Given the description of an element on the screen output the (x, y) to click on. 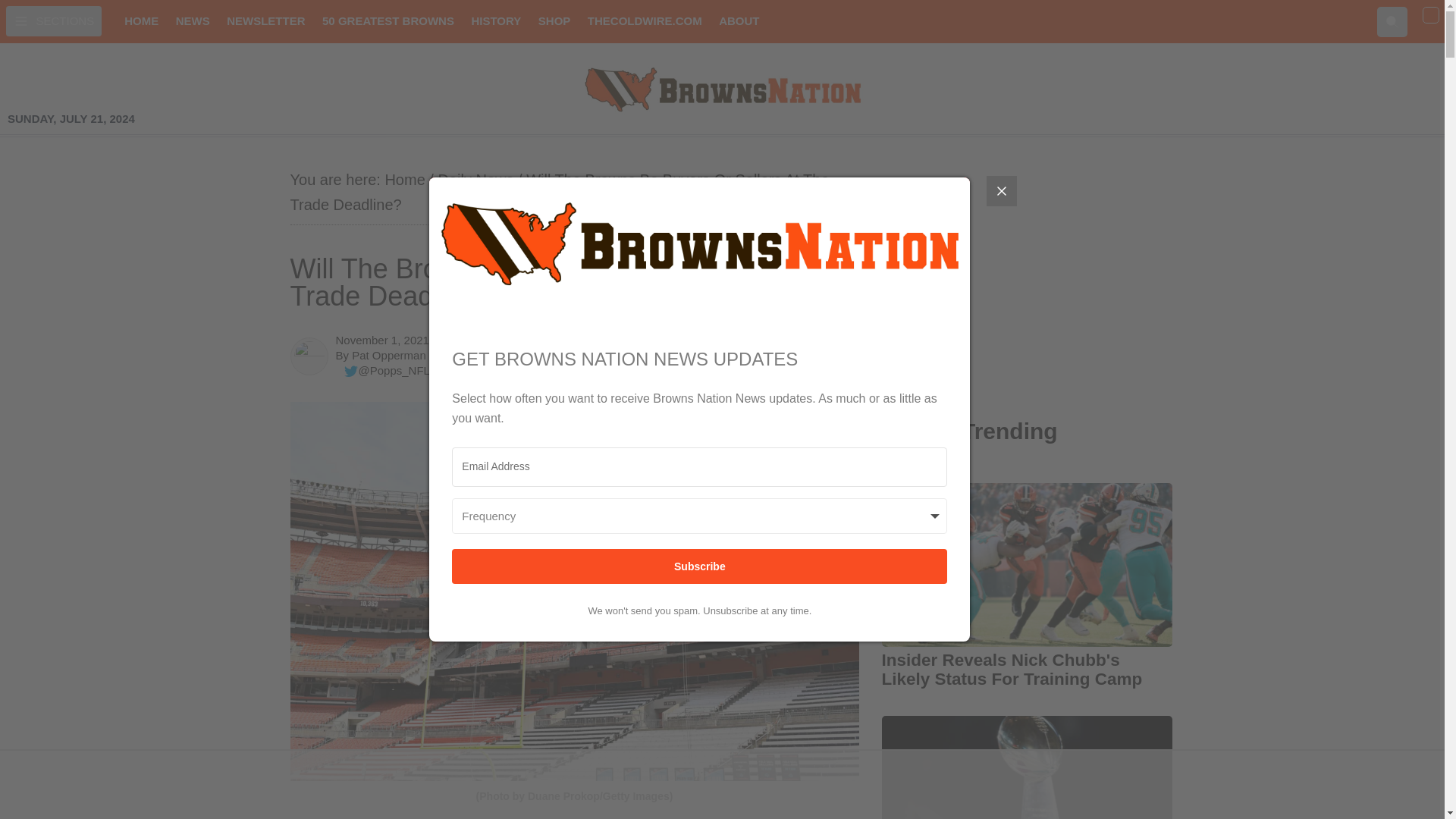
Search (1392, 20)
HOME (140, 21)
NEWS (192, 21)
BROWNS NATION (722, 88)
50 GREATEST BROWNS (387, 21)
SECTIONS (53, 20)
ABOUT (738, 21)
SHOP (554, 21)
NEWSLETTER (265, 21)
Open Menu (53, 20)
HISTORY (495, 21)
THECOLDWIRE.COM (644, 21)
